Given the description of an element on the screen output the (x, y) to click on. 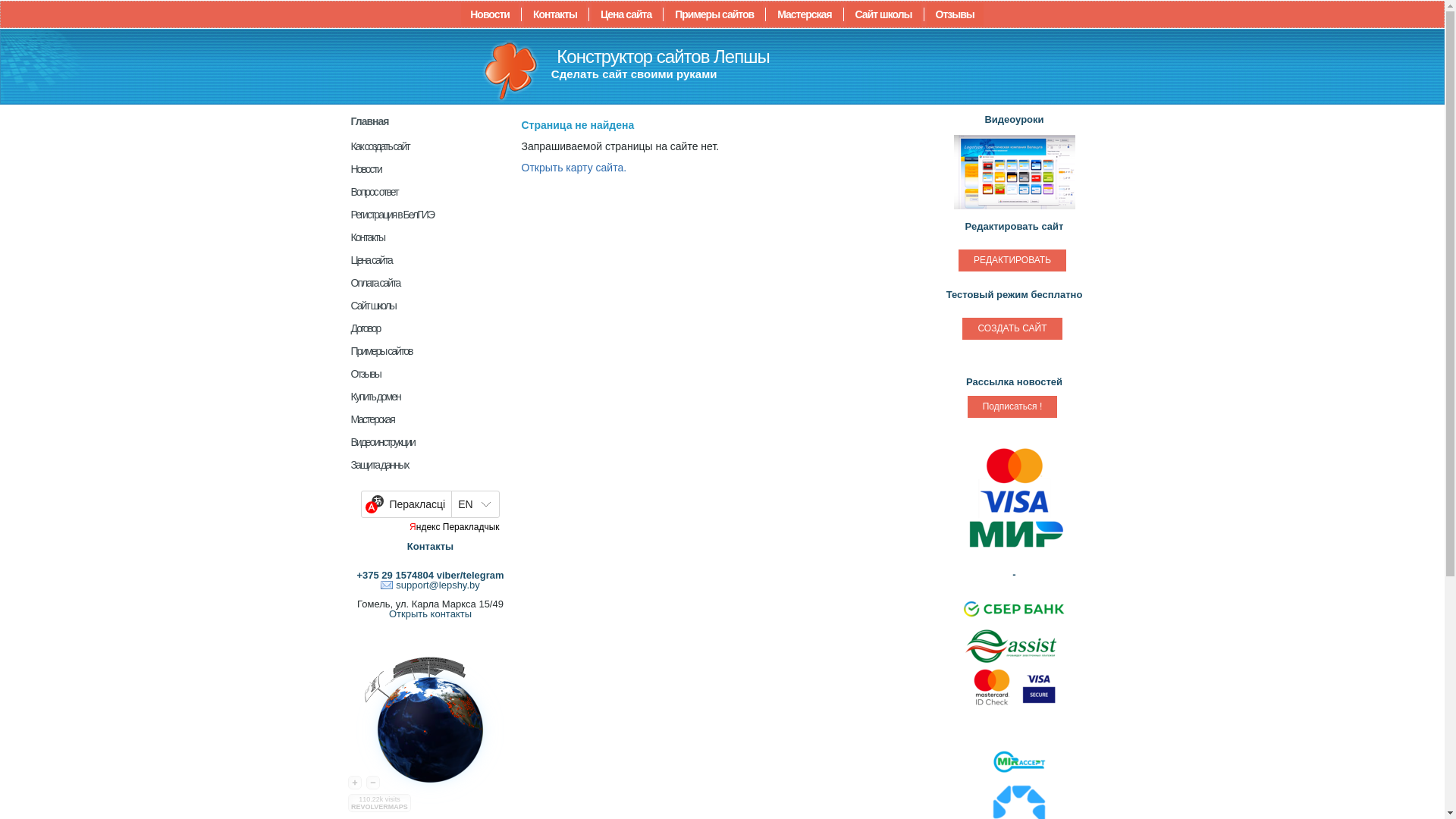
support@lepshy.by Element type: text (430, 584)
+375 29 1574804 viber/telegram Element type: text (429, 574)
